Given the description of an element on the screen output the (x, y) to click on. 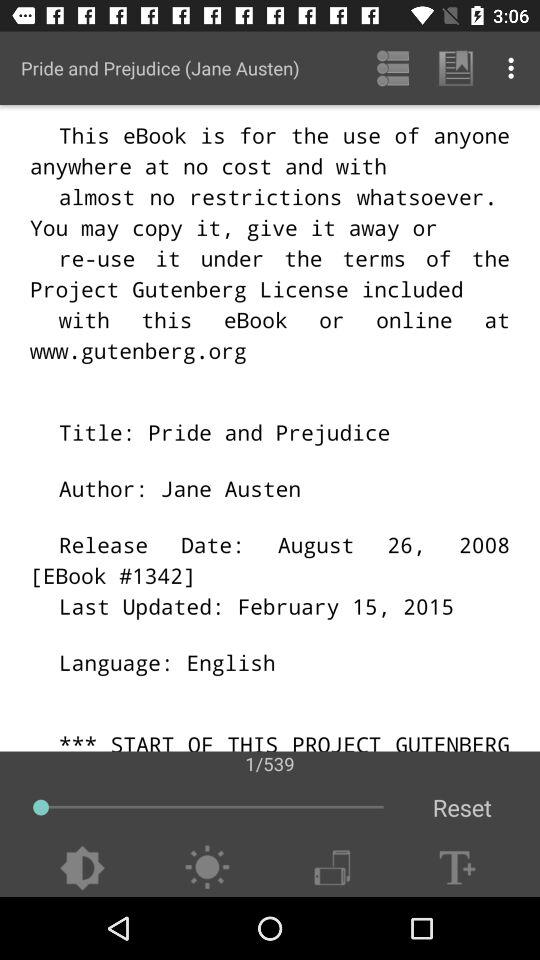
darken (81, 867)
